Given the description of an element on the screen output the (x, y) to click on. 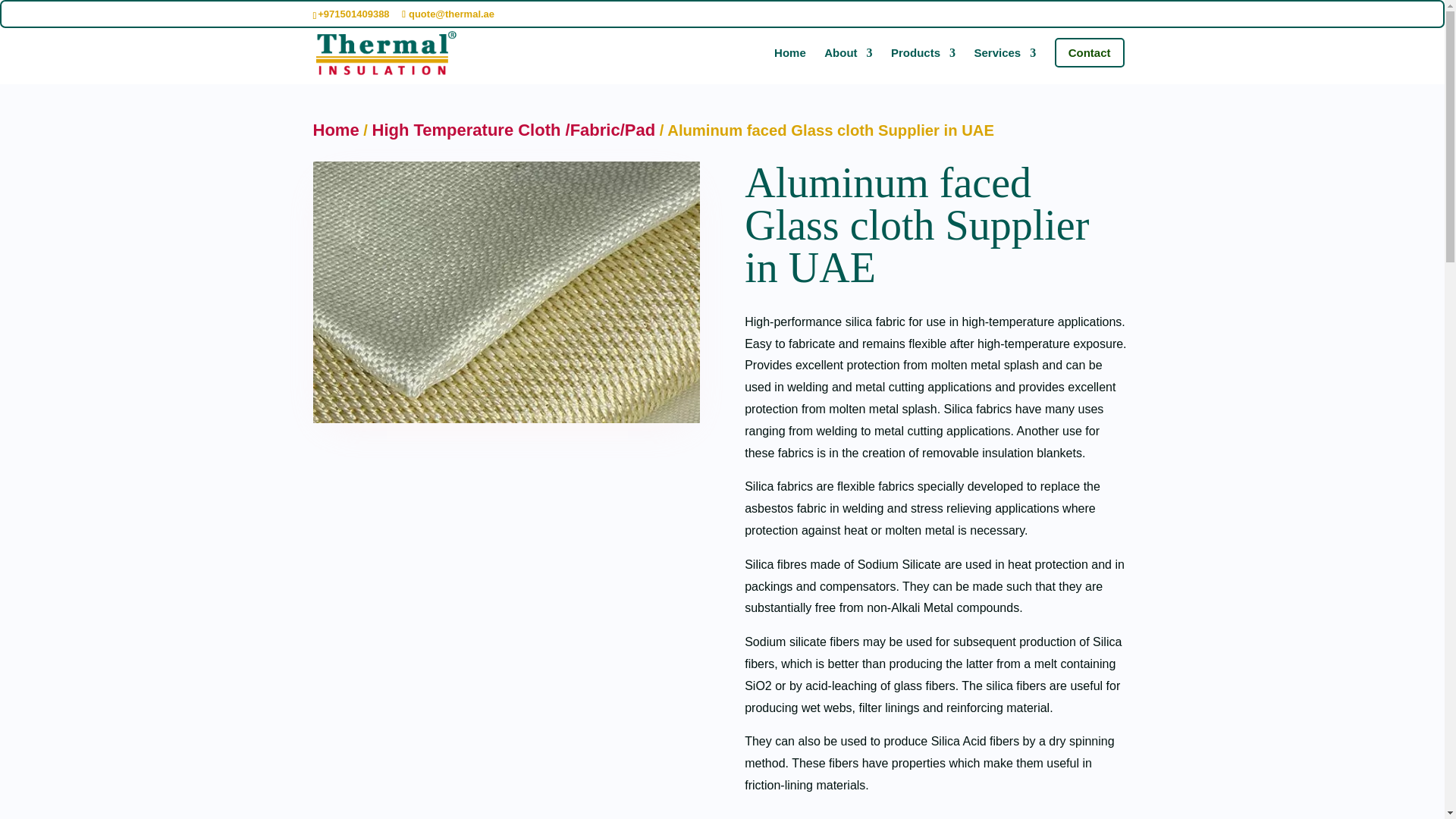
Contact (1089, 52)
SilicaCloth13- (505, 292)
Products (923, 65)
Home (335, 129)
About (848, 65)
Home (790, 65)
Services (1004, 65)
